Given the description of an element on the screen output the (x, y) to click on. 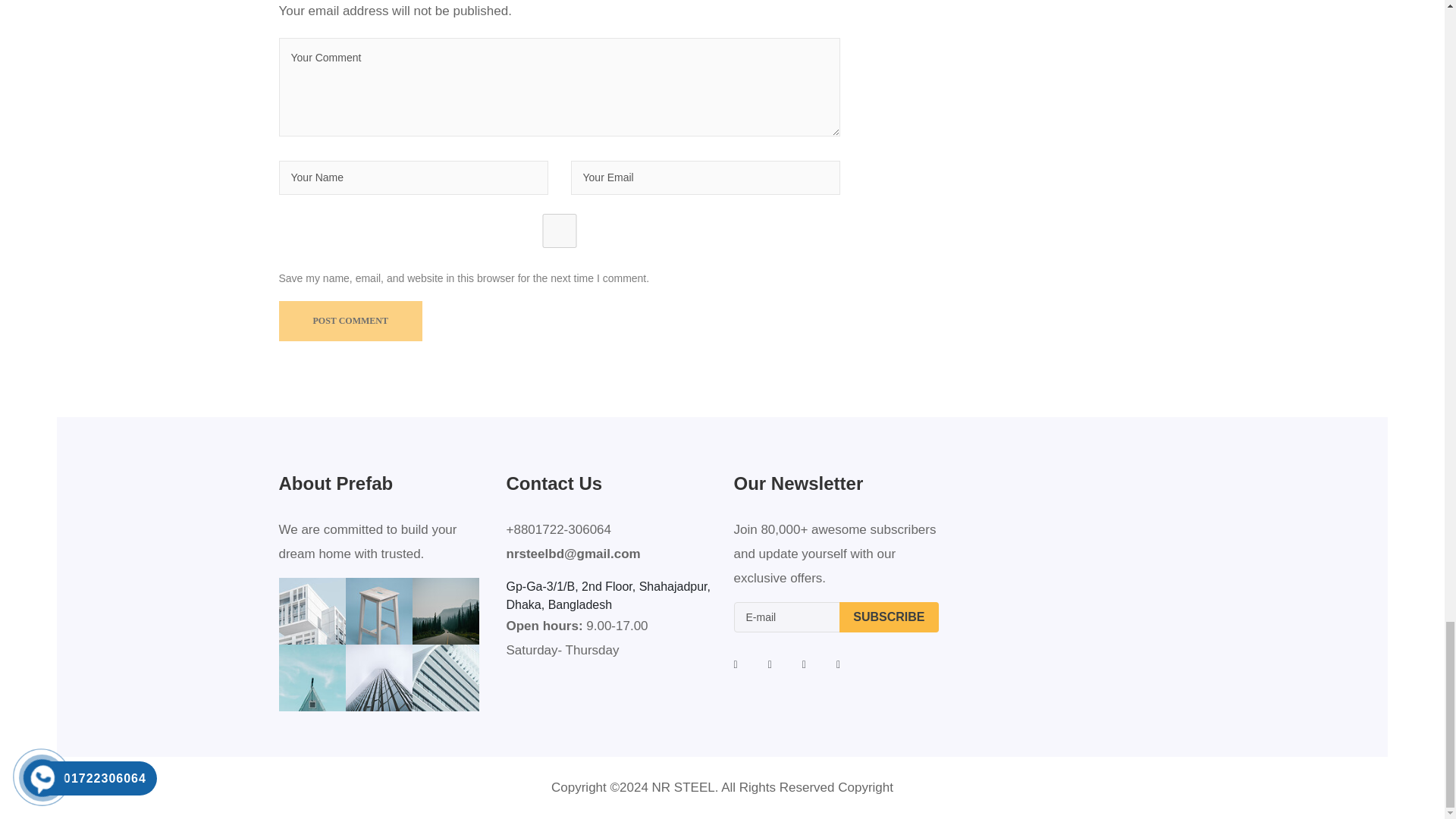
yes (559, 230)
